Given the description of an element on the screen output the (x, y) to click on. 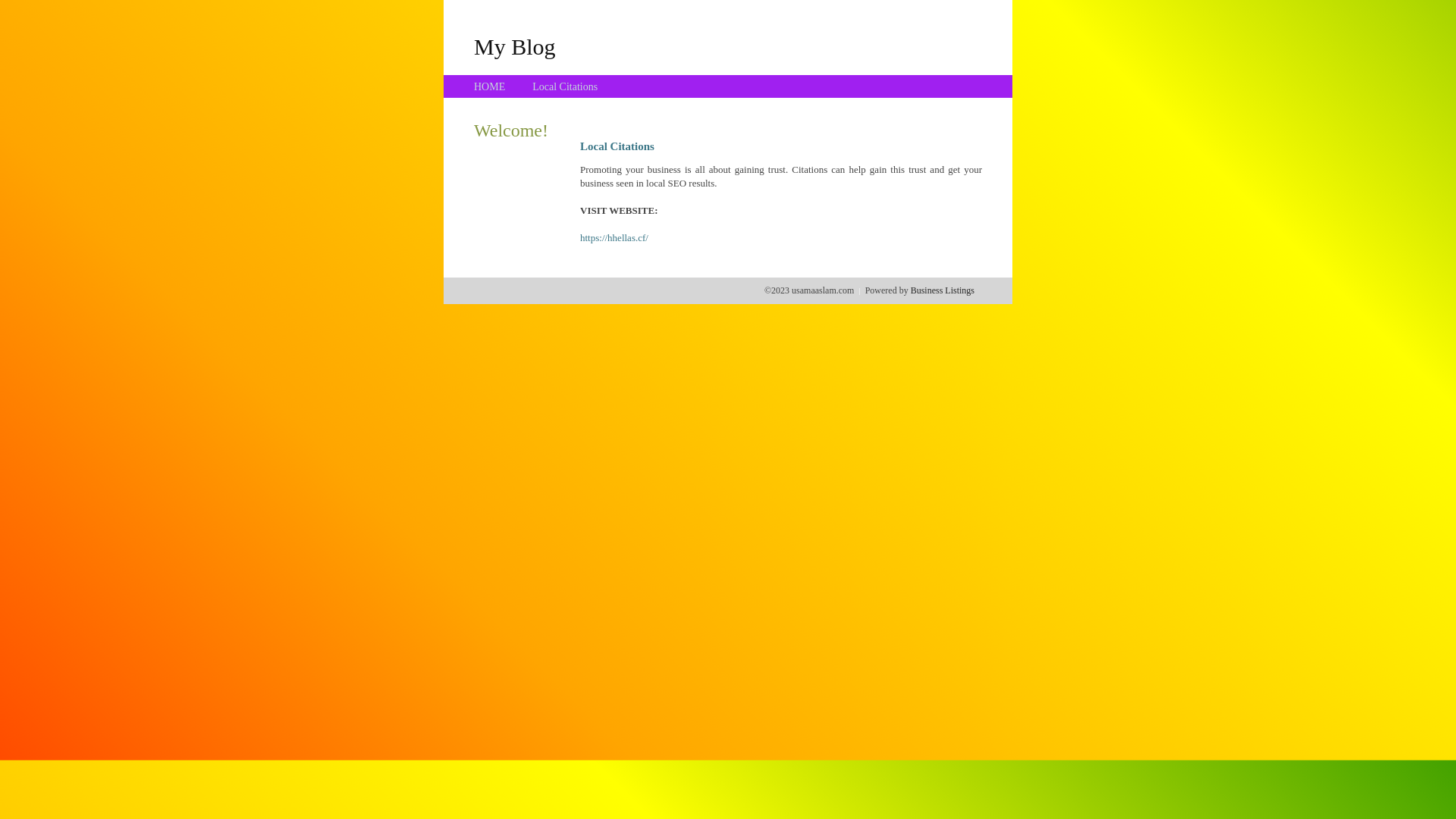
HOME Element type: text (489, 86)
Business Listings Element type: text (942, 290)
My Blog Element type: text (514, 46)
Local Citations Element type: text (564, 86)
https://hhellas.cf/ Element type: text (614, 237)
